Given the description of an element on the screen output the (x, y) to click on. 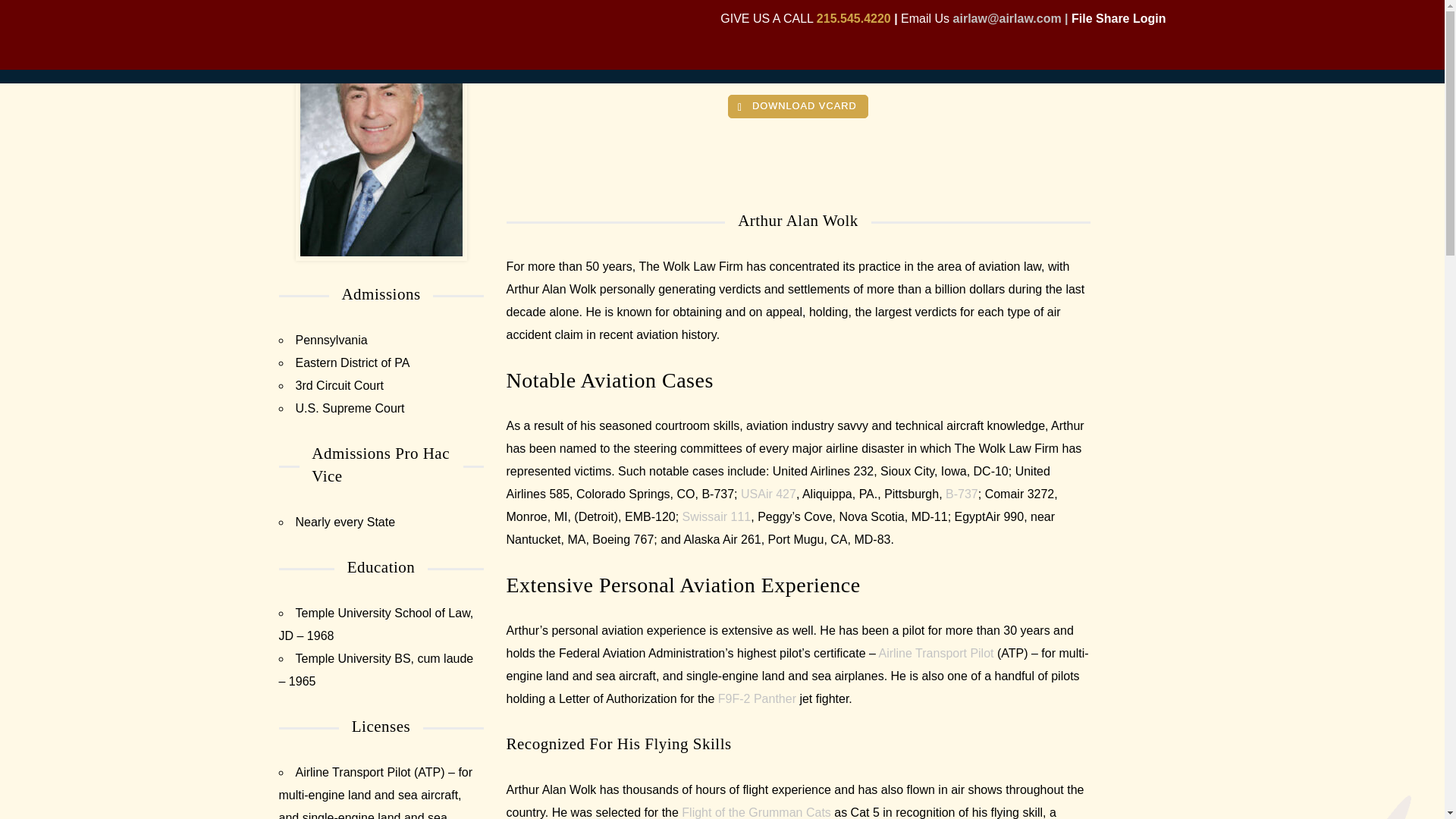
DOWNLOAD VCARD (797, 106)
Airline Transport Pilot (934, 653)
File Share Login (1118, 18)
Flight of the Grumman Cats (756, 812)
F9F-2 Panther (756, 698)
OFFICE: 215.545.4220 (798, 65)
AirlawArthurWolk-891Larger (381, 142)
B-737 (961, 493)
USAir 427 (768, 493)
Swissair 111 (716, 516)
